Given the description of an element on the screen output the (x, y) to click on. 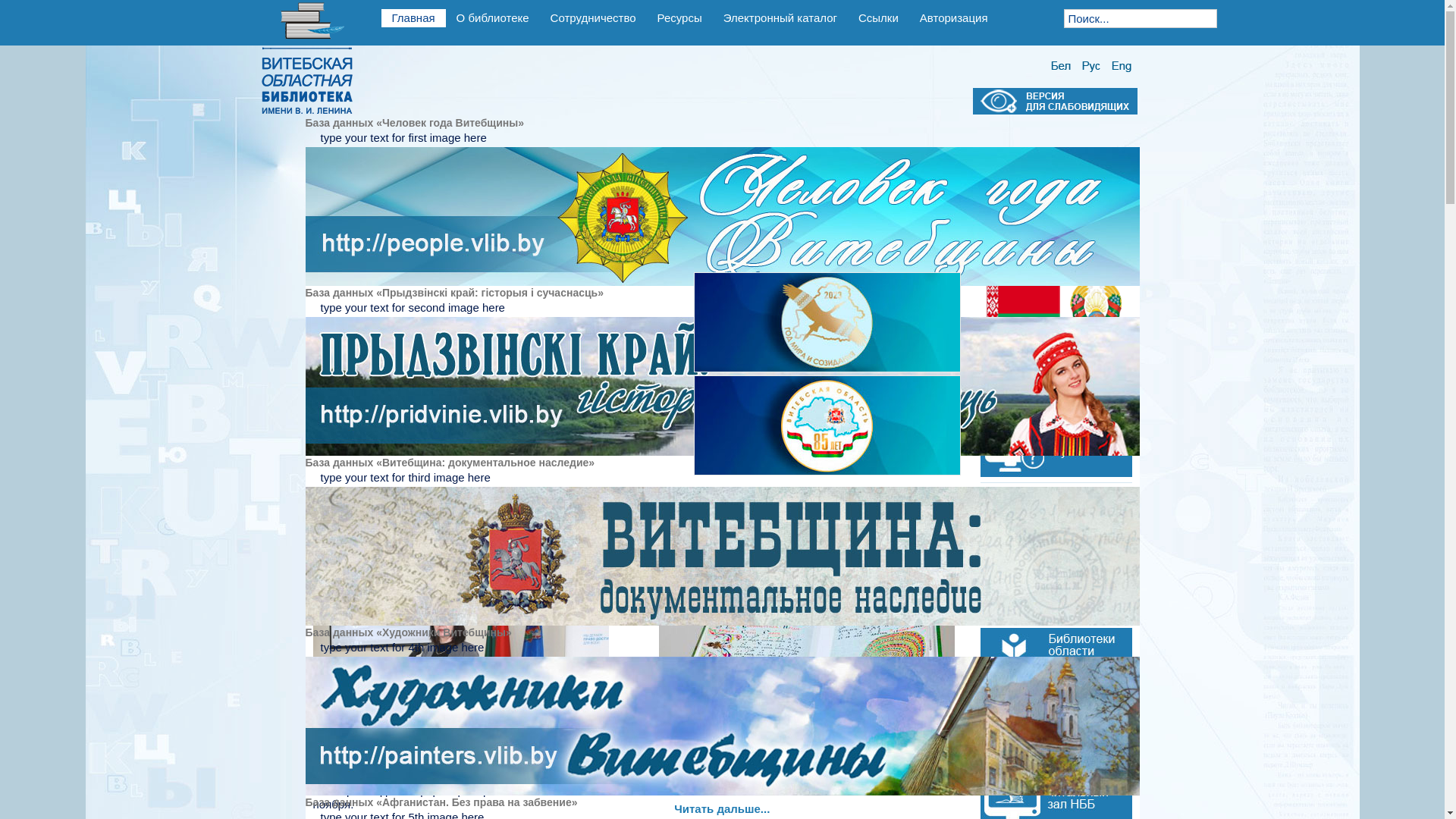
English (UK) Element type: hover (1121, 66)
Belarusian(BY) Element type: hover (1060, 66)
Russian(RU) Element type: hover (1091, 66)
